Given the description of an element on the screen output the (x, y) to click on. 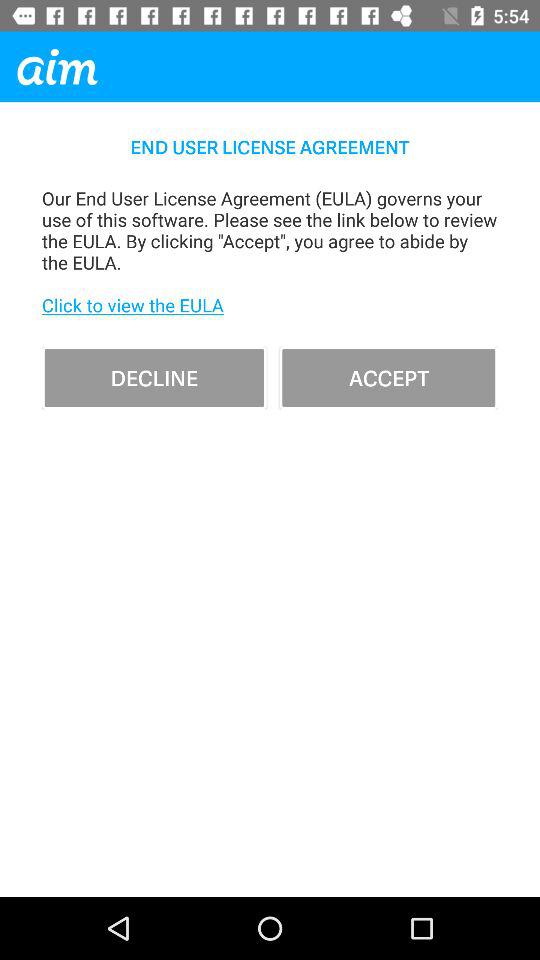
select item below our end user item (154, 377)
